Given the description of an element on the screen output the (x, y) to click on. 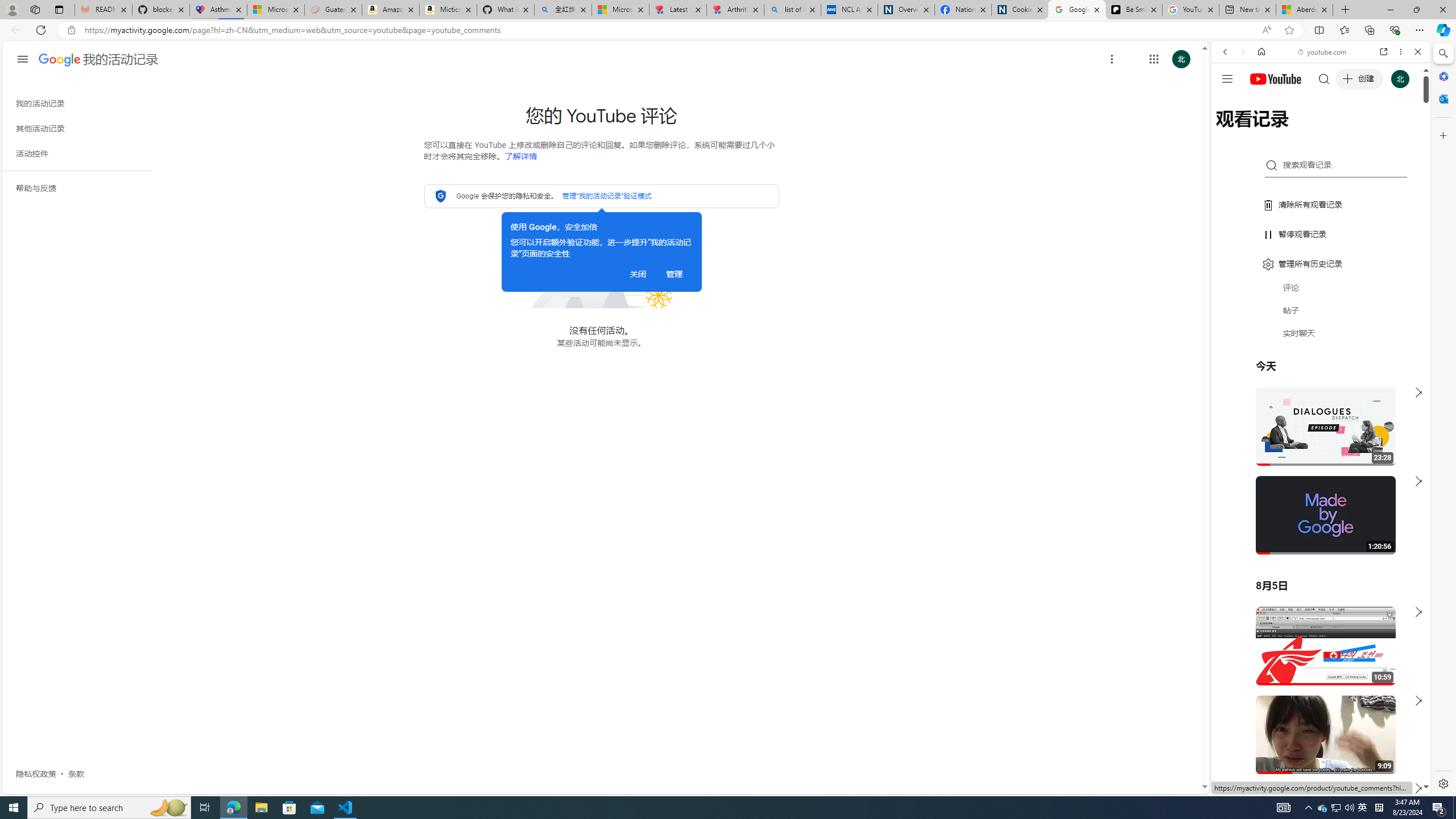
Search videos from youtube.com (1299, 373)
Class: gb_Vc (81, 434)
